Given the description of an element on the screen output the (x, y) to click on. 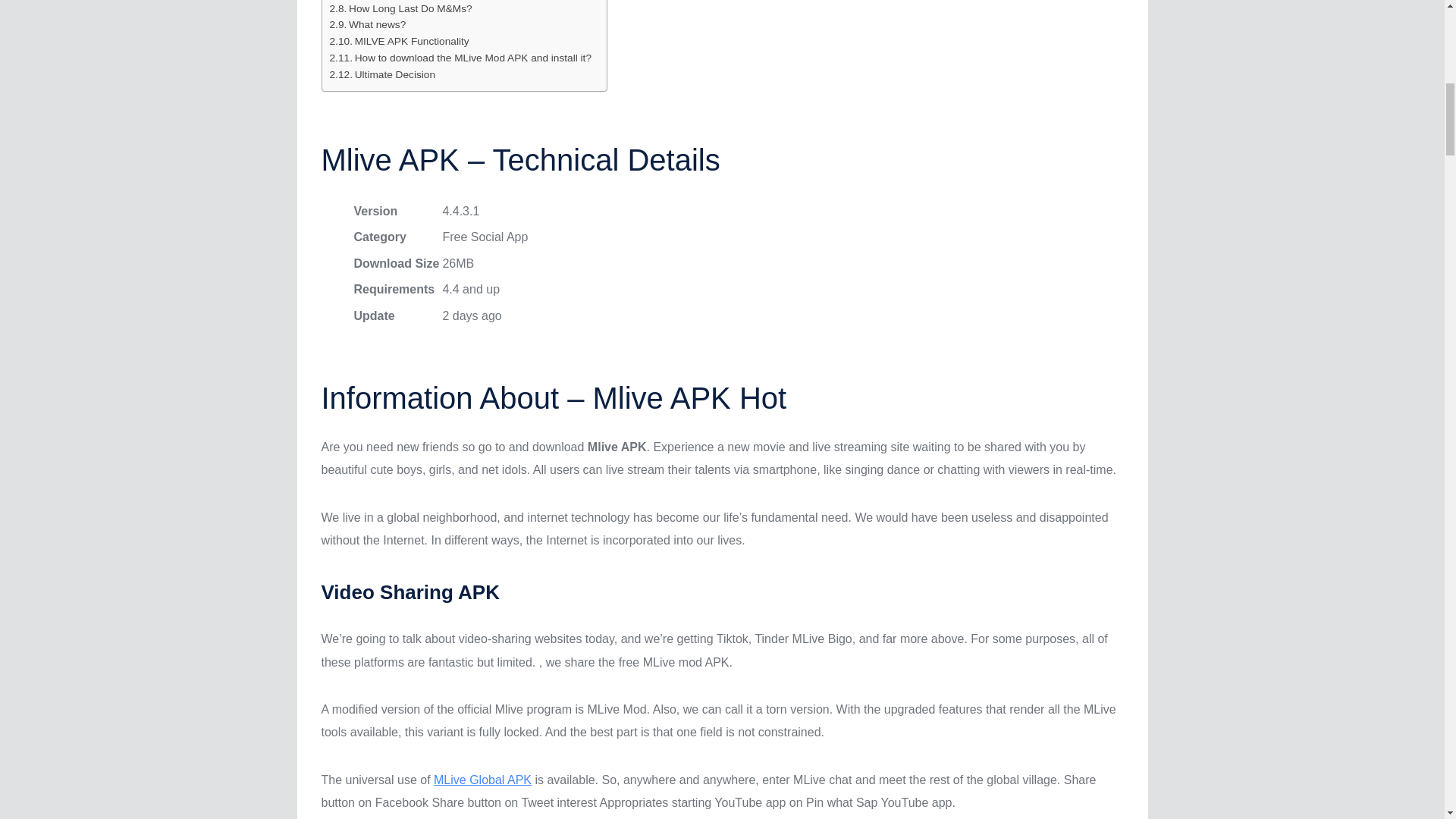
MILVE APK Functionality (398, 41)
How to download the MLive Mod APK and install it? (460, 57)
What news? (367, 24)
Ultimate Decision (382, 74)
